Given the description of an element on the screen output the (x, y) to click on. 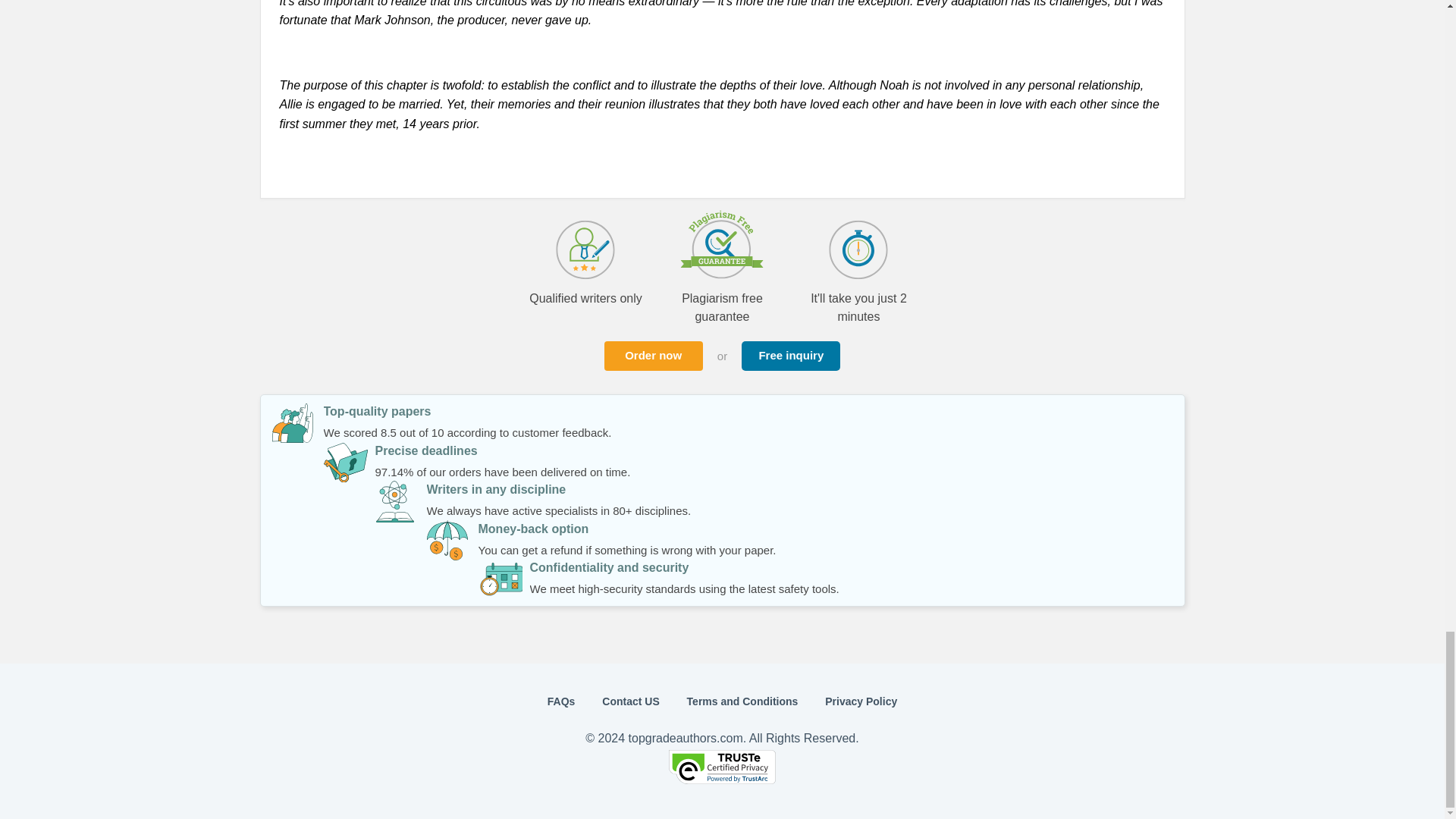
Contact US (630, 701)
Privacy Policy (860, 701)
Terms and Conditions (742, 701)
Free inquiry (790, 356)
FAQs (561, 701)
Order now (653, 356)
TRUSTe Privacy Certification (722, 779)
